Given the description of an element on the screen output the (x, y) to click on. 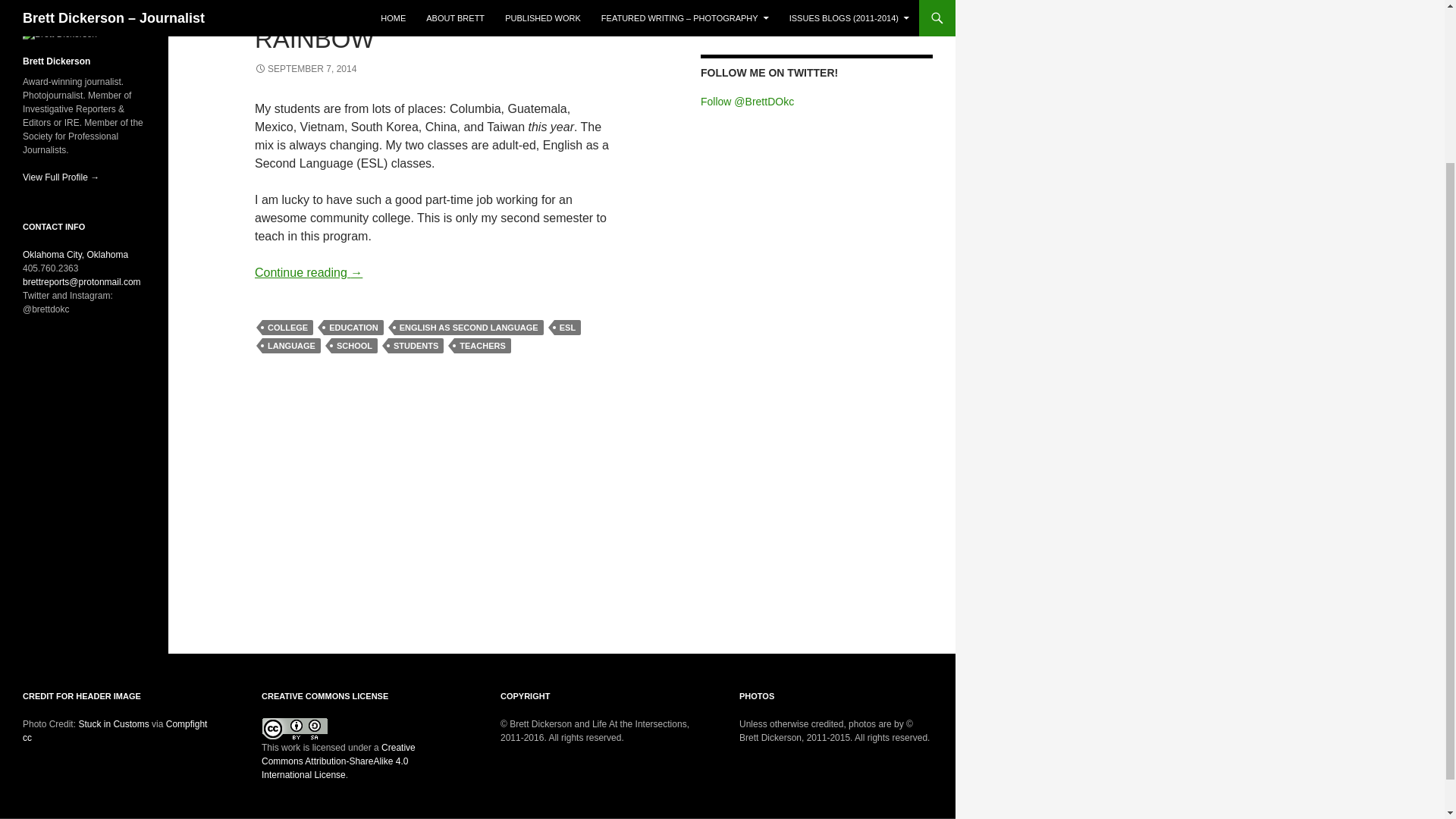
COLLEGE (287, 327)
SCHOOL (354, 345)
STUDENTS (416, 345)
SEPTEMBER 7, 2014 (305, 68)
ENGLISH AS SECOND LANGUAGE (468, 327)
EDUCATION (353, 327)
LANGUAGE (291, 345)
IT TAKES PRACTICE TO BECOME THIS KIND OF A RAINBOW (405, 26)
TEACHERS (482, 345)
ESL (567, 327)
